Given the description of an element on the screen output the (x, y) to click on. 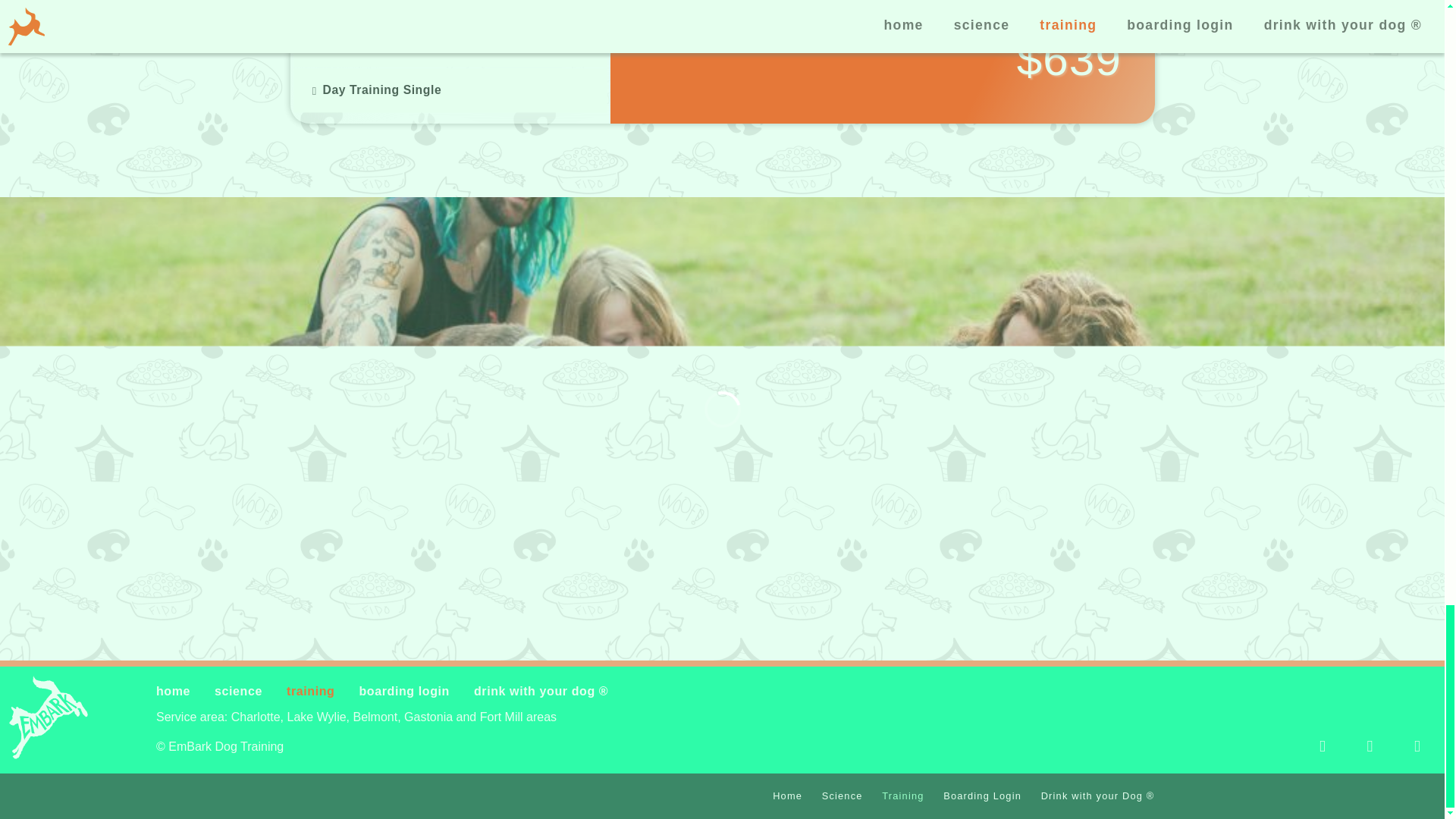
science (238, 691)
boarding login (403, 691)
training (310, 691)
EmBark Dog Training (47, 719)
home (172, 691)
